Given the description of an element on the screen output the (x, y) to click on. 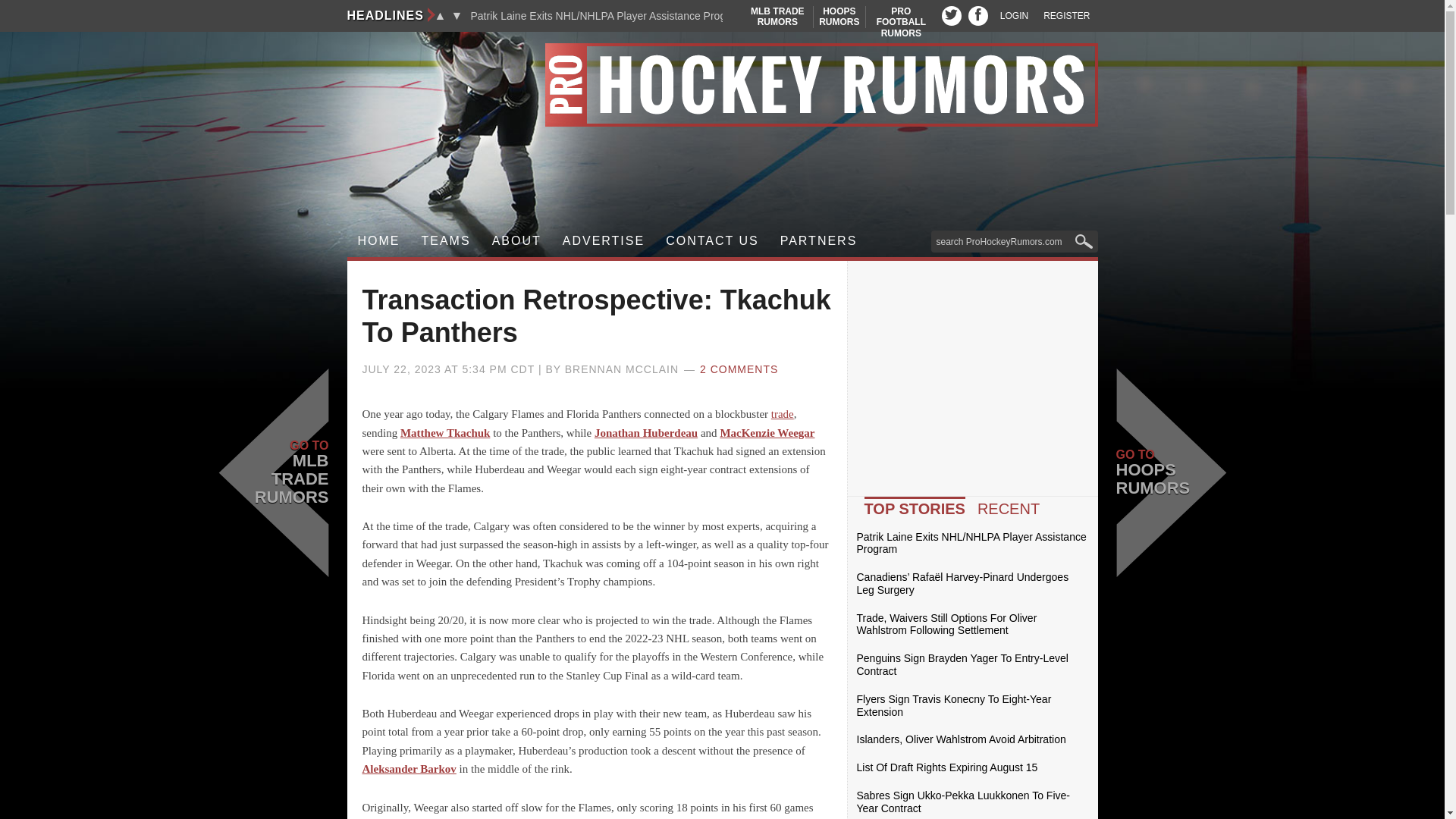
Pro Hockey Rumors (722, 84)
Twitter profile (838, 16)
FB profile (951, 15)
HOME (978, 15)
REGISTER (378, 241)
TEAMS (1066, 15)
Previous (445, 241)
LOGIN (901, 21)
Search (777, 16)
Next (439, 15)
